Given the description of an element on the screen output the (x, y) to click on. 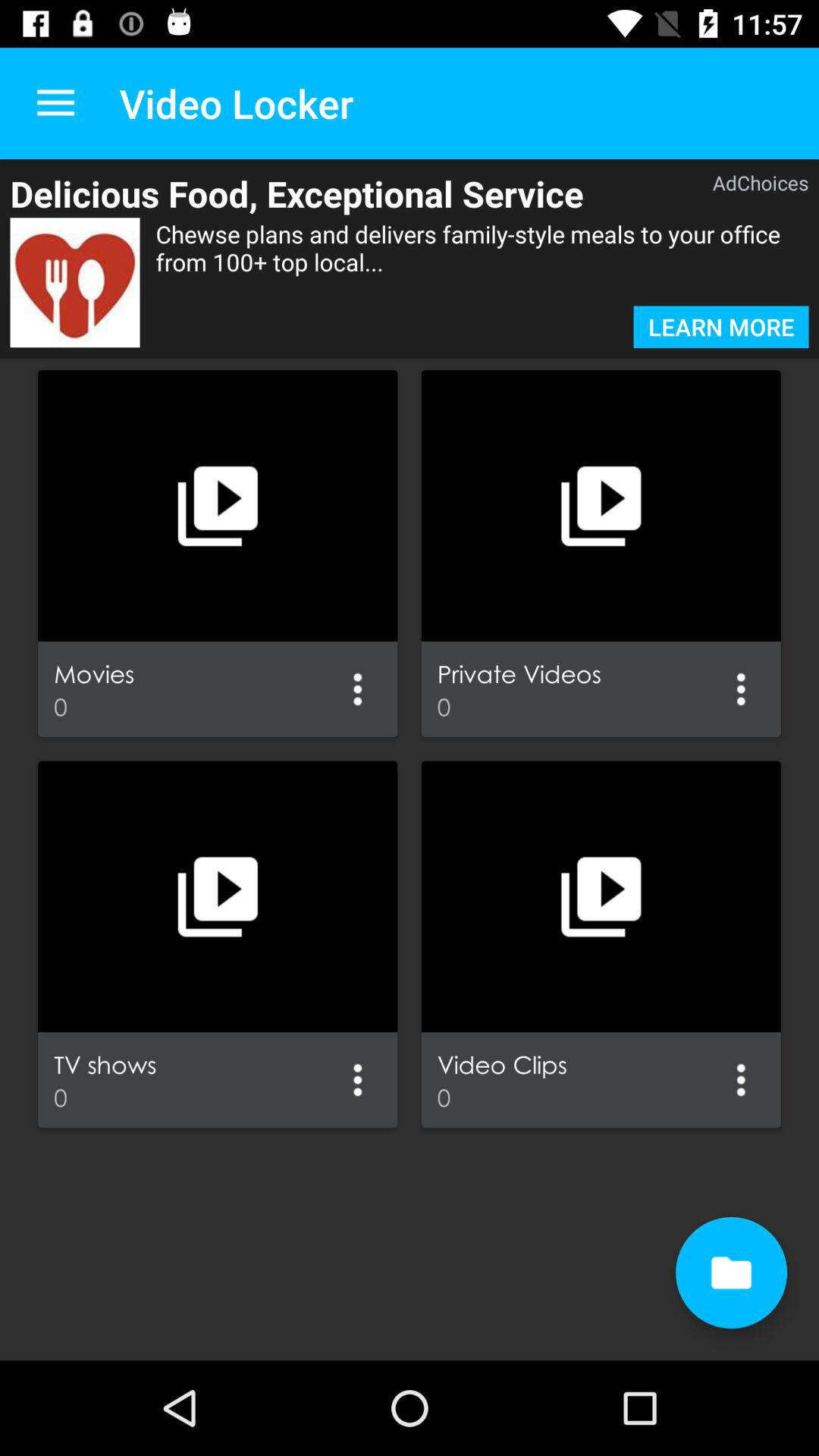
launch delicious food exceptional icon (337, 193)
